Given the description of an element on the screen output the (x, y) to click on. 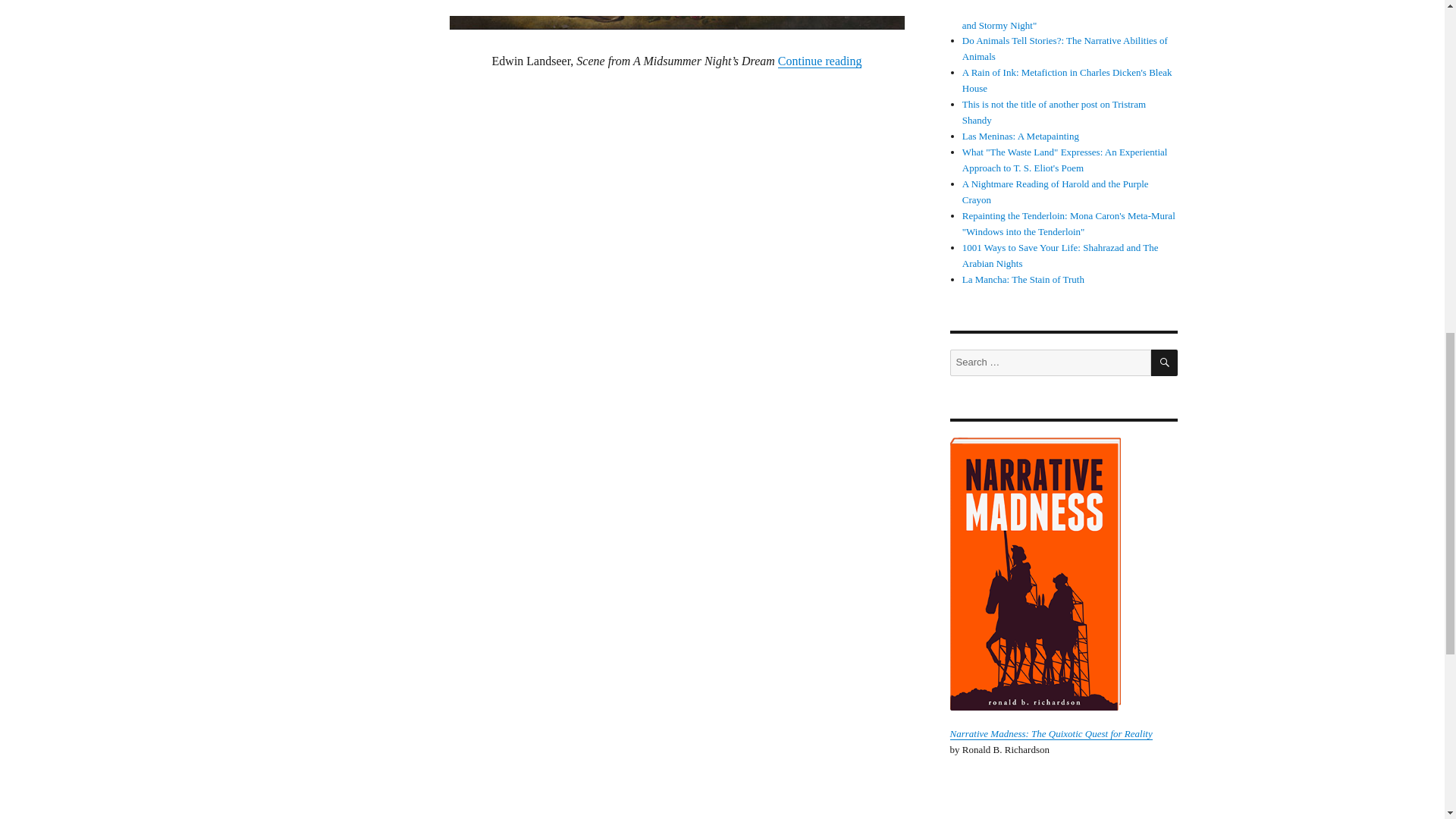
Las Meninas: A Metapainting (1020, 135)
Do Animals Tell Stories?: The Narrative Abilities of Animals (1064, 48)
This is not the title of another post on Tristram Shandy (1053, 112)
A Nightmare Reading of Harold and the Purple Crayon (1055, 191)
A Rain of Ink: Metafiction in Charles Dicken's Bleak House (1067, 80)
